Given the description of an element on the screen output the (x, y) to click on. 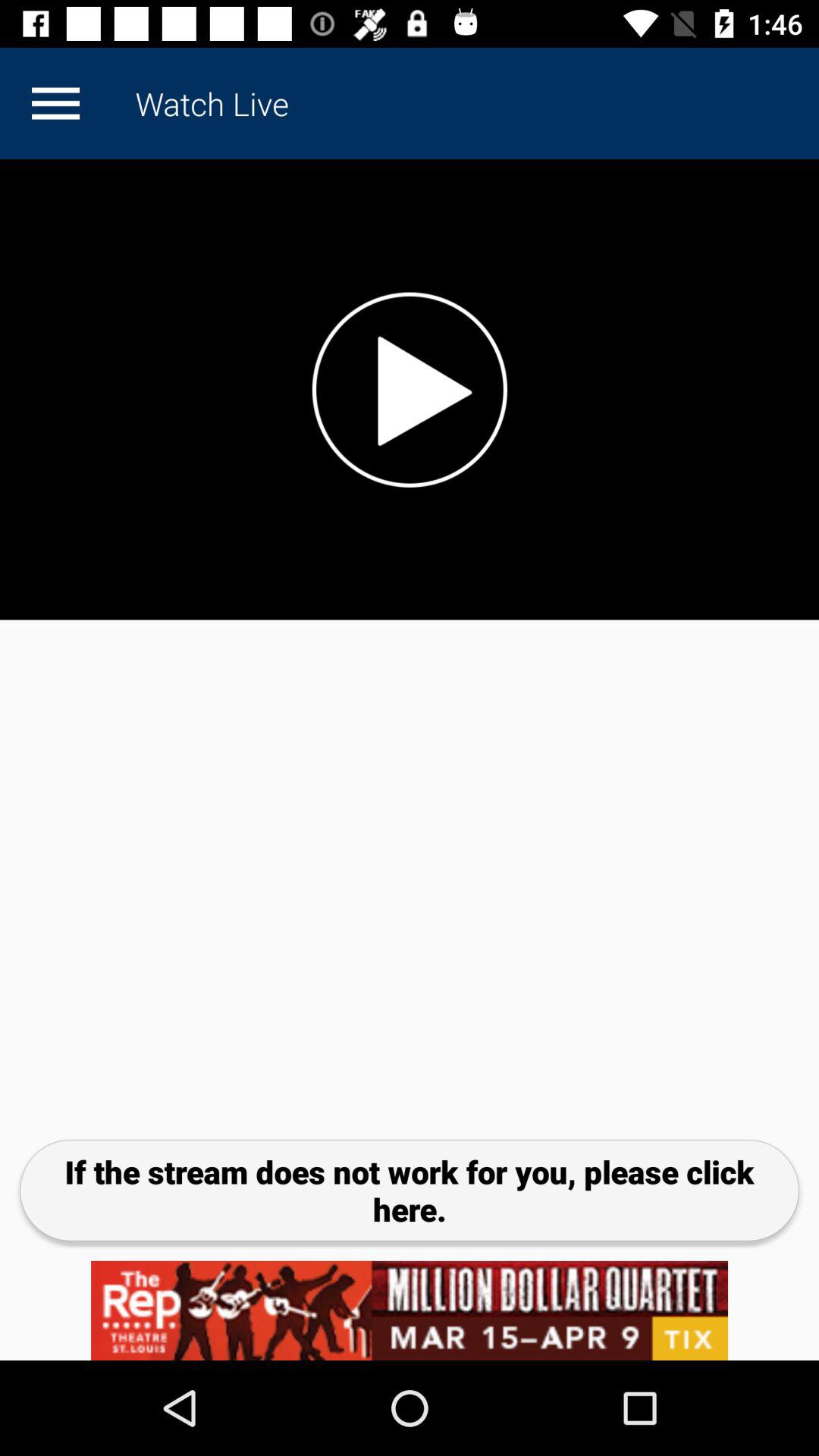
great way to now world and local news (409, 389)
